Given the description of an element on the screen output the (x, y) to click on. 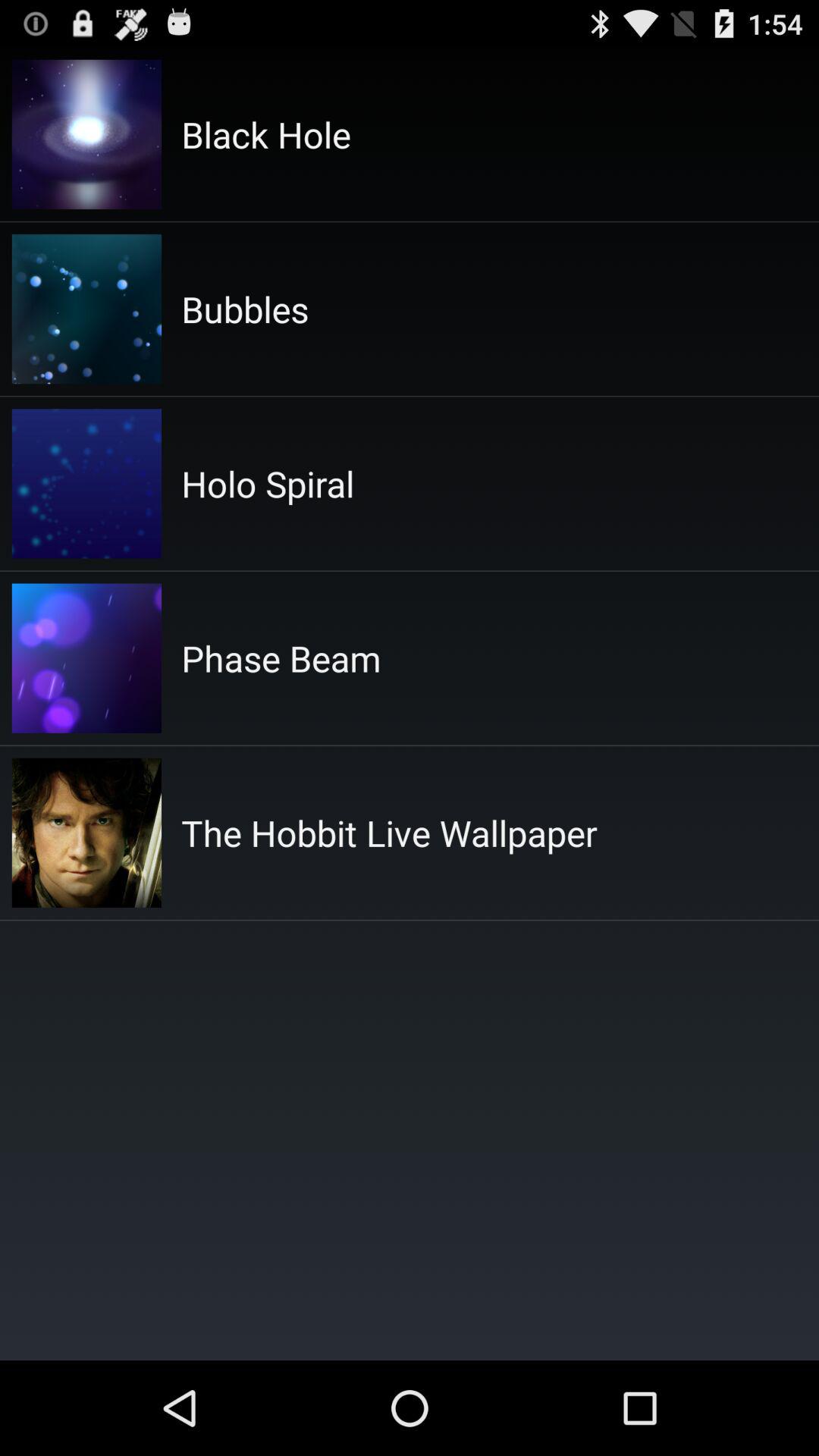
turn on the item above holo spiral (244, 308)
